Given the description of an element on the screen output the (x, y) to click on. 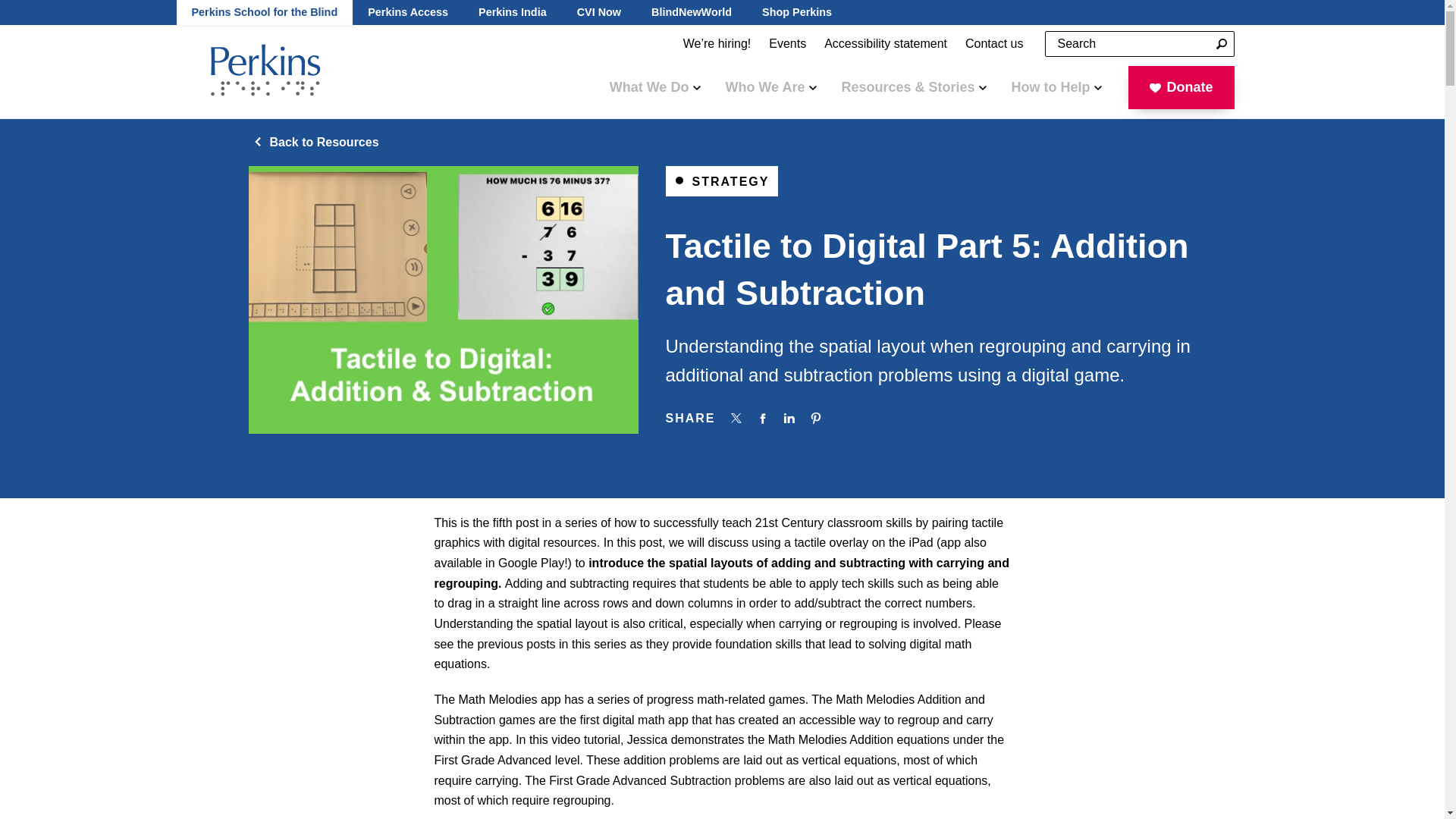
Perkins Access (407, 12)
Search (1220, 43)
Perkins School for the Blind (264, 12)
Search (1220, 43)
Search (1220, 43)
Shop Perkins (796, 12)
What We Do (654, 86)
CVI Now (599, 12)
Events (787, 43)
Accessibility statement (885, 43)
